Given the description of an element on the screen output the (x, y) to click on. 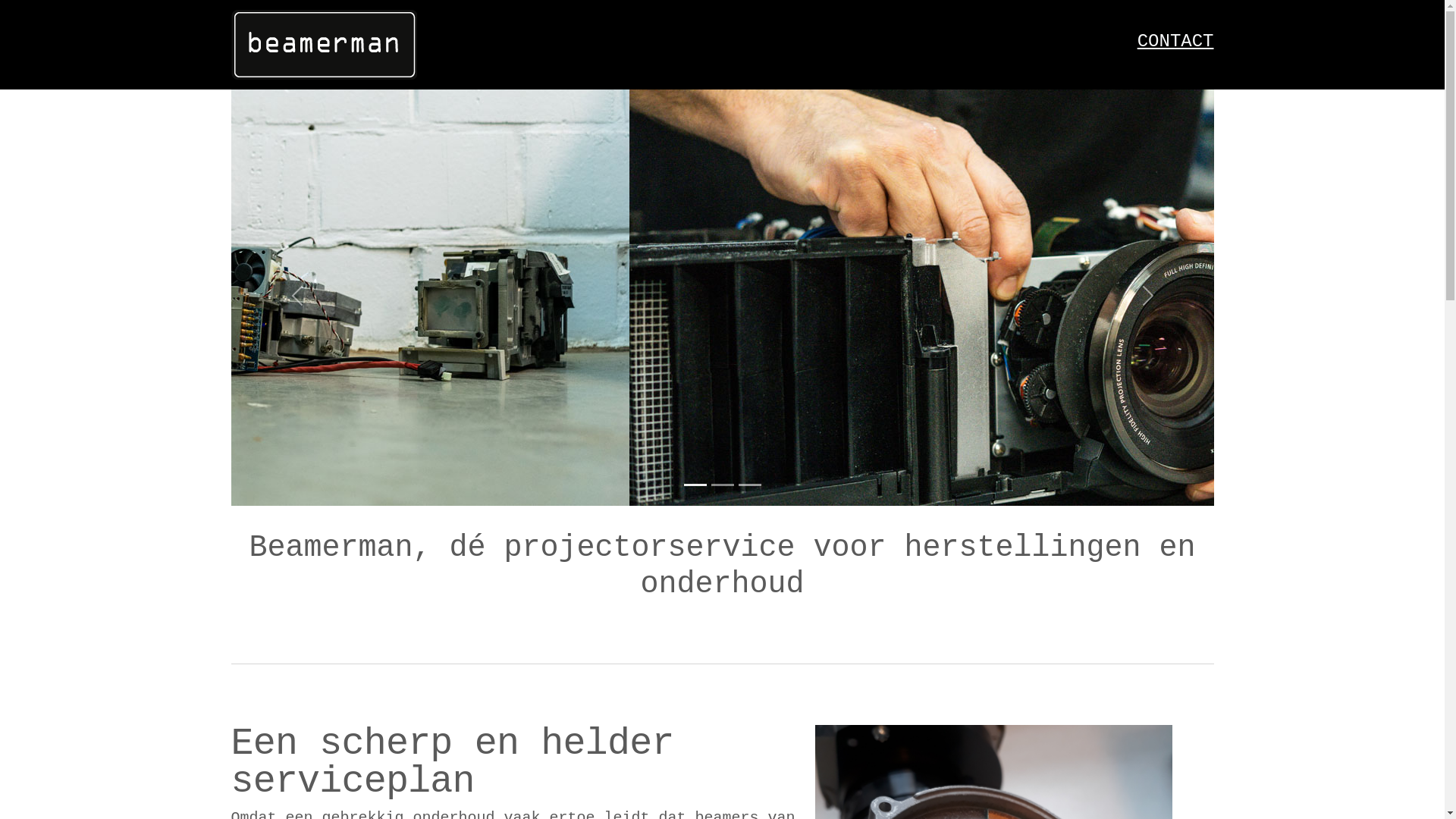
Previous Element type: text (296, 294)
CONTACT Element type: text (1175, 41)
Next Element type: text (1147, 294)
